Given the description of an element on the screen output the (x, y) to click on. 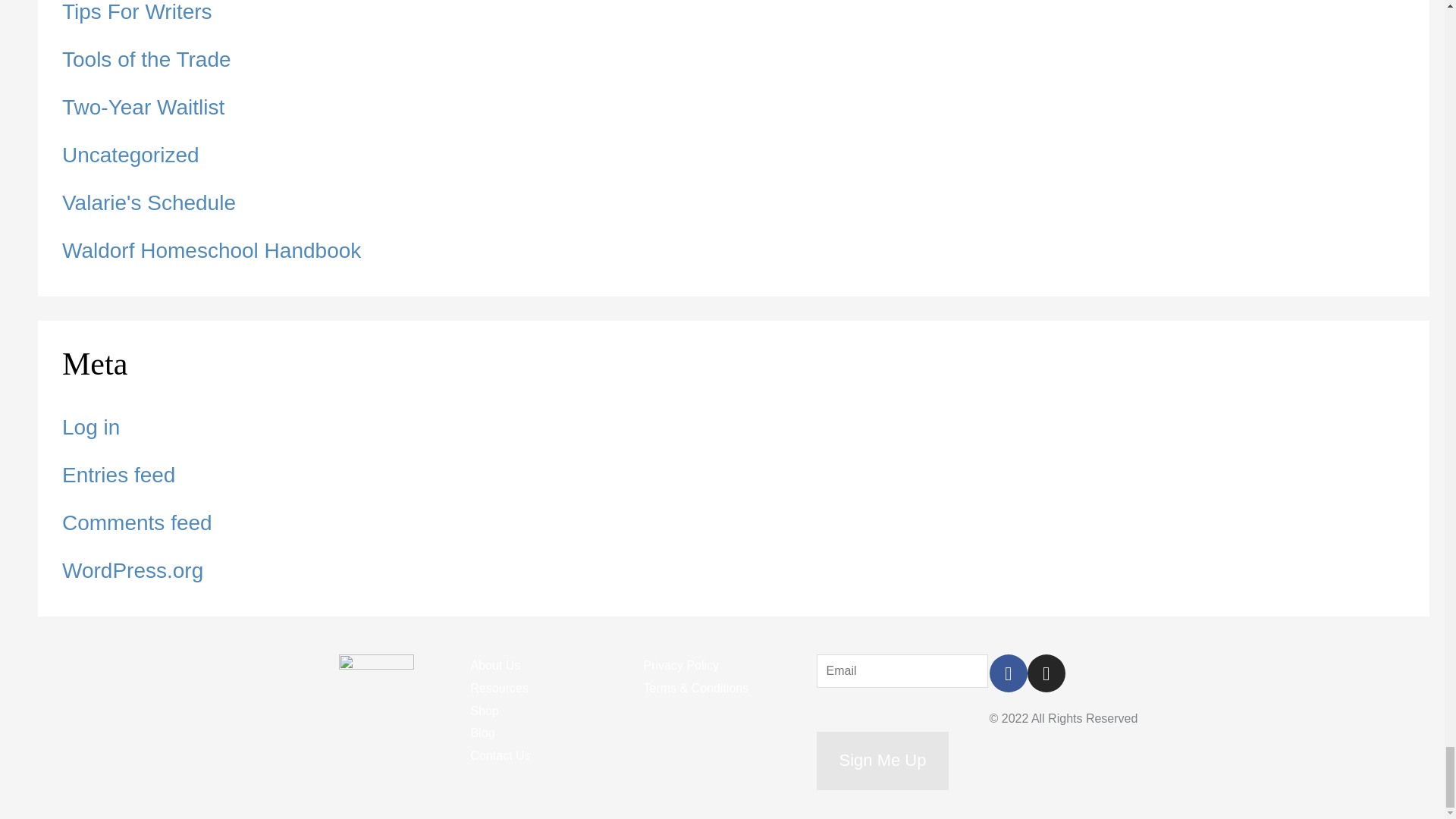
Sign Me Up (882, 761)
